Given the description of an element on the screen output the (x, y) to click on. 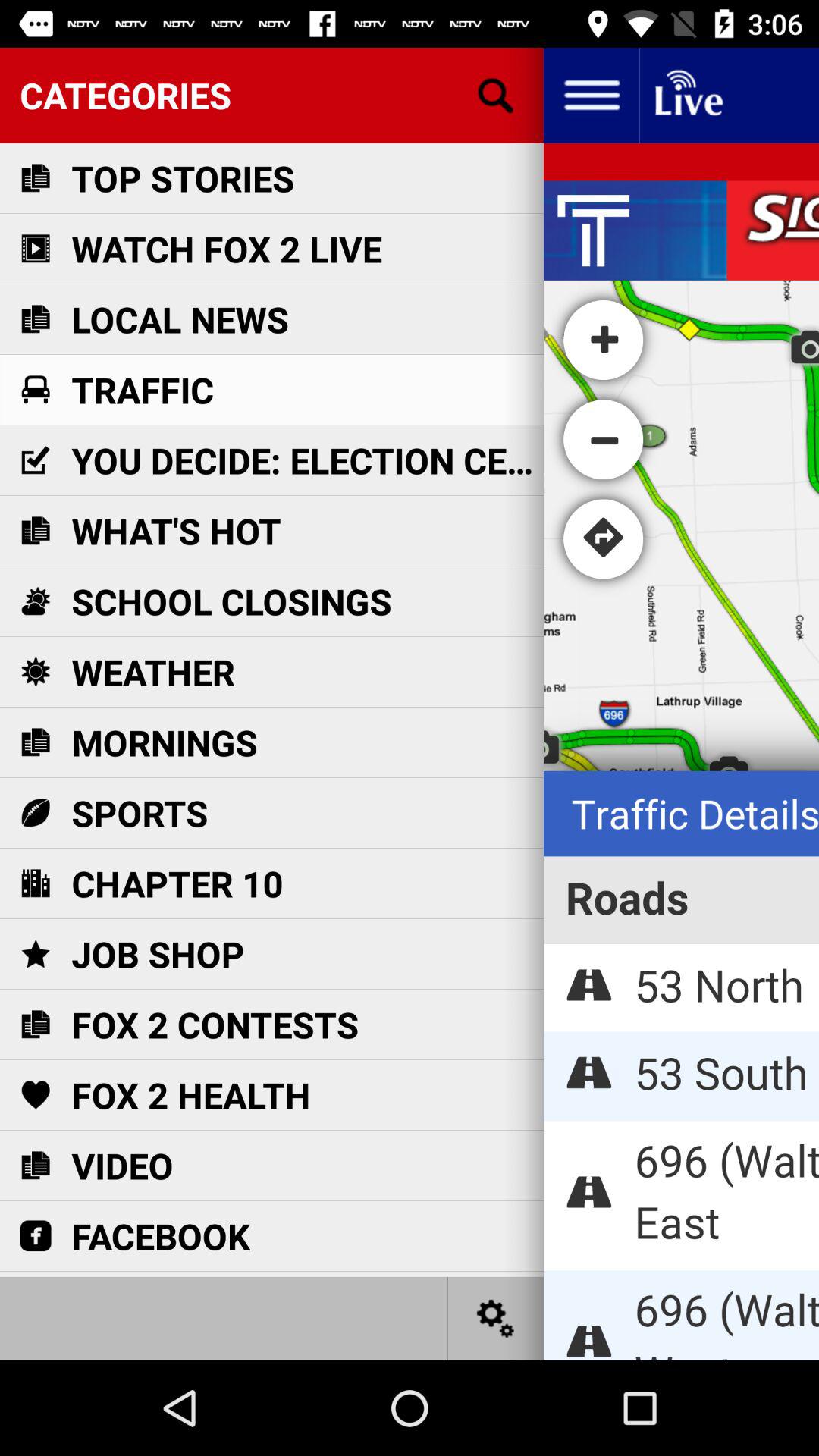
search button (495, 95)
